Given the description of an element on the screen output the (x, y) to click on. 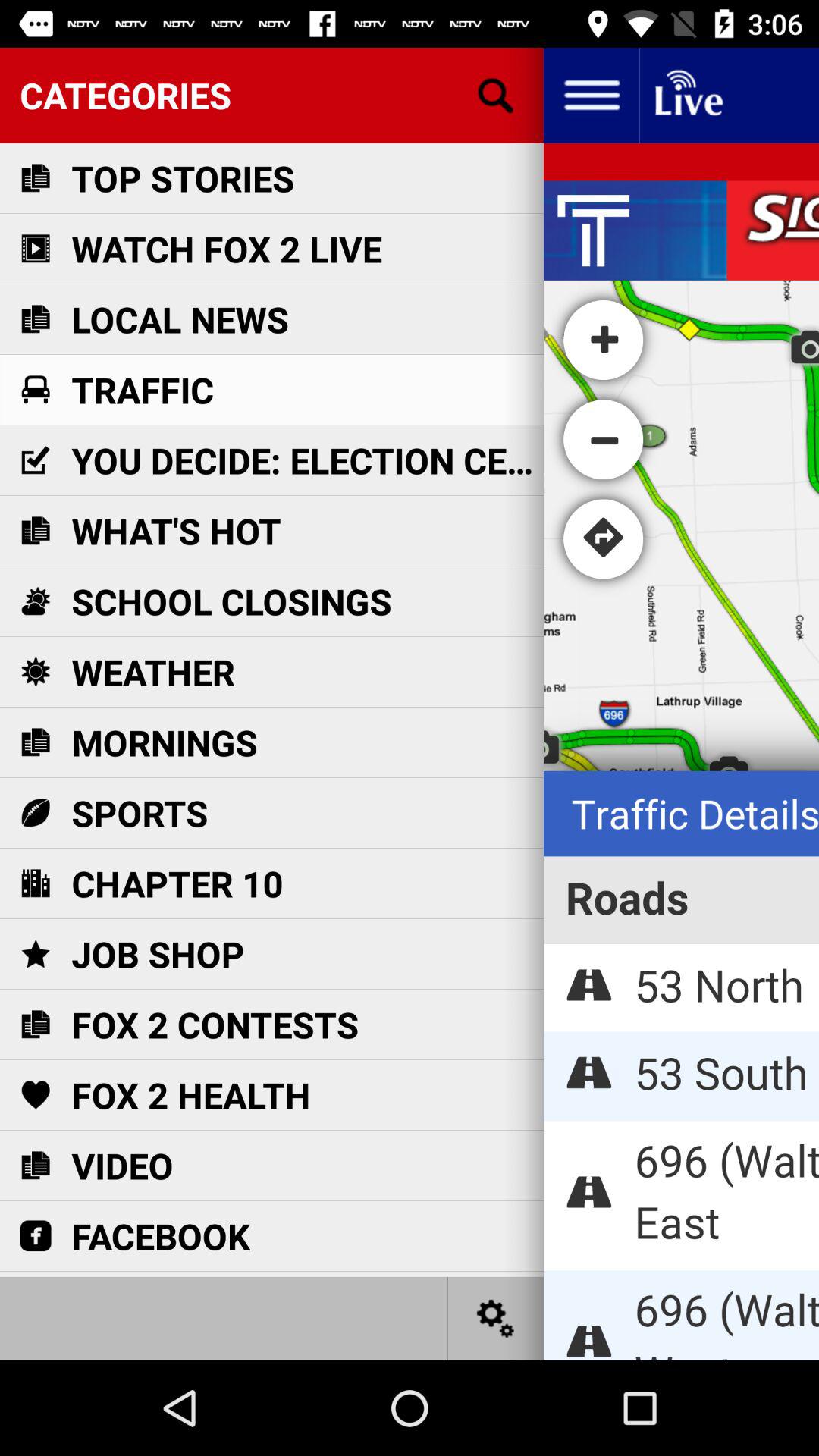
search button (495, 95)
